Given the description of an element on the screen output the (x, y) to click on. 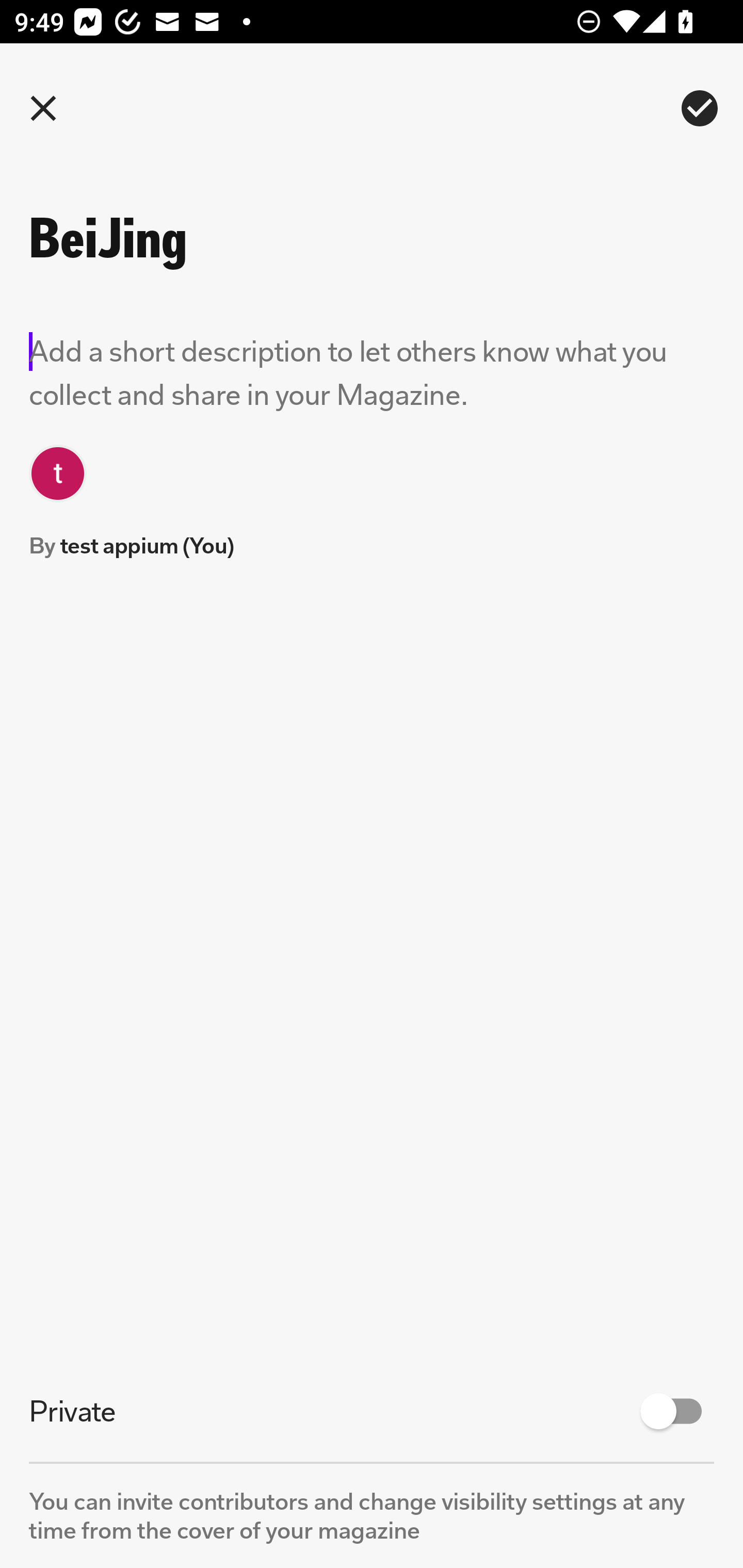
BeiJing (252, 238)
Private (371, 1411)
